Given the description of an element on the screen output the (x, y) to click on. 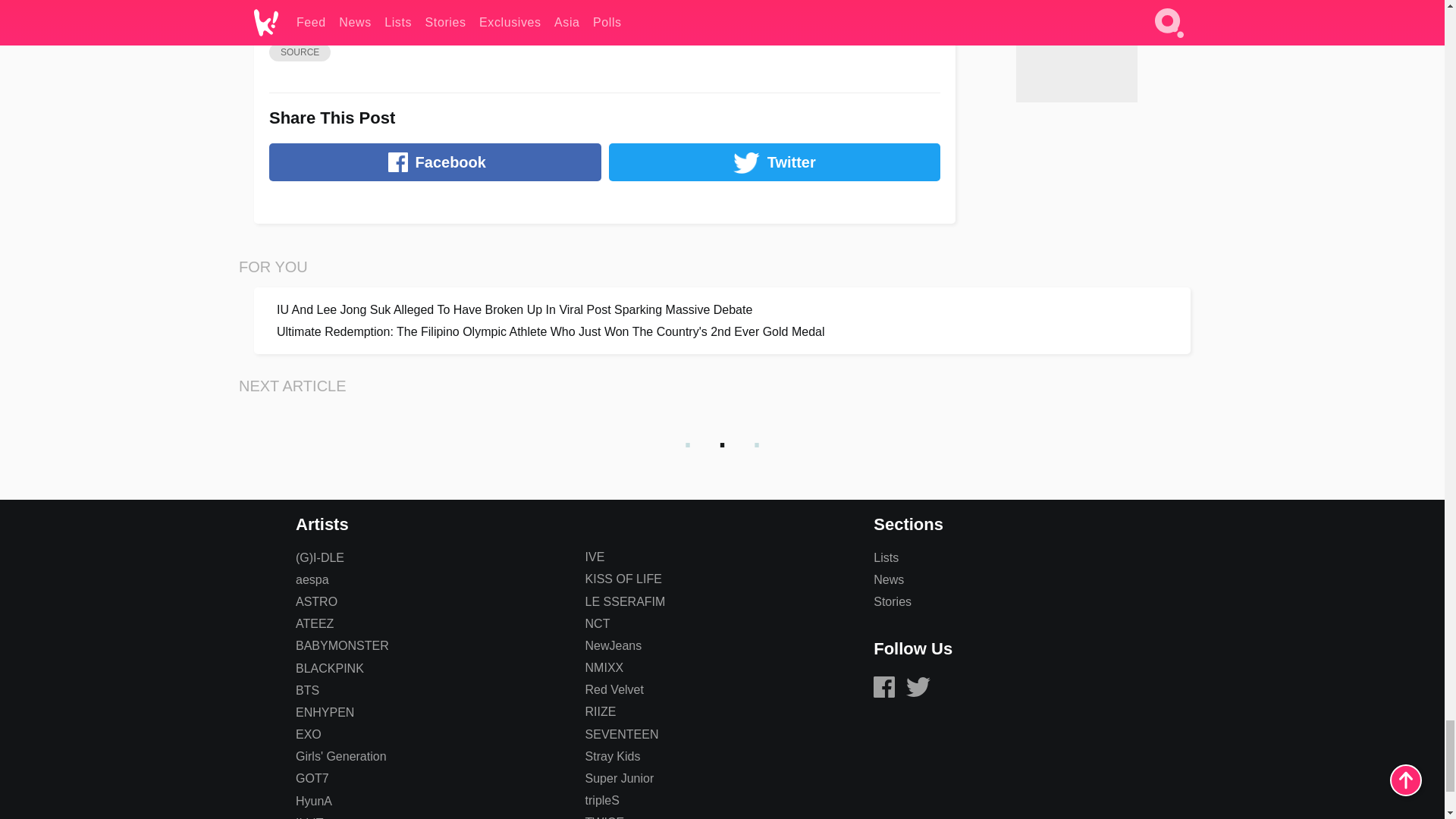
LE SSERAFIM (625, 601)
IVE (595, 556)
ATEEZ (314, 623)
ILLIT (309, 817)
SEVENTEEN (622, 734)
Girls' Generation (341, 756)
Red Velvet (614, 689)
GOT7 (312, 778)
aespa (312, 579)
ASTRO (316, 601)
BABYMONSTER (341, 645)
NMIXX (604, 667)
NewJeans (613, 645)
